Given the description of an element on the screen output the (x, y) to click on. 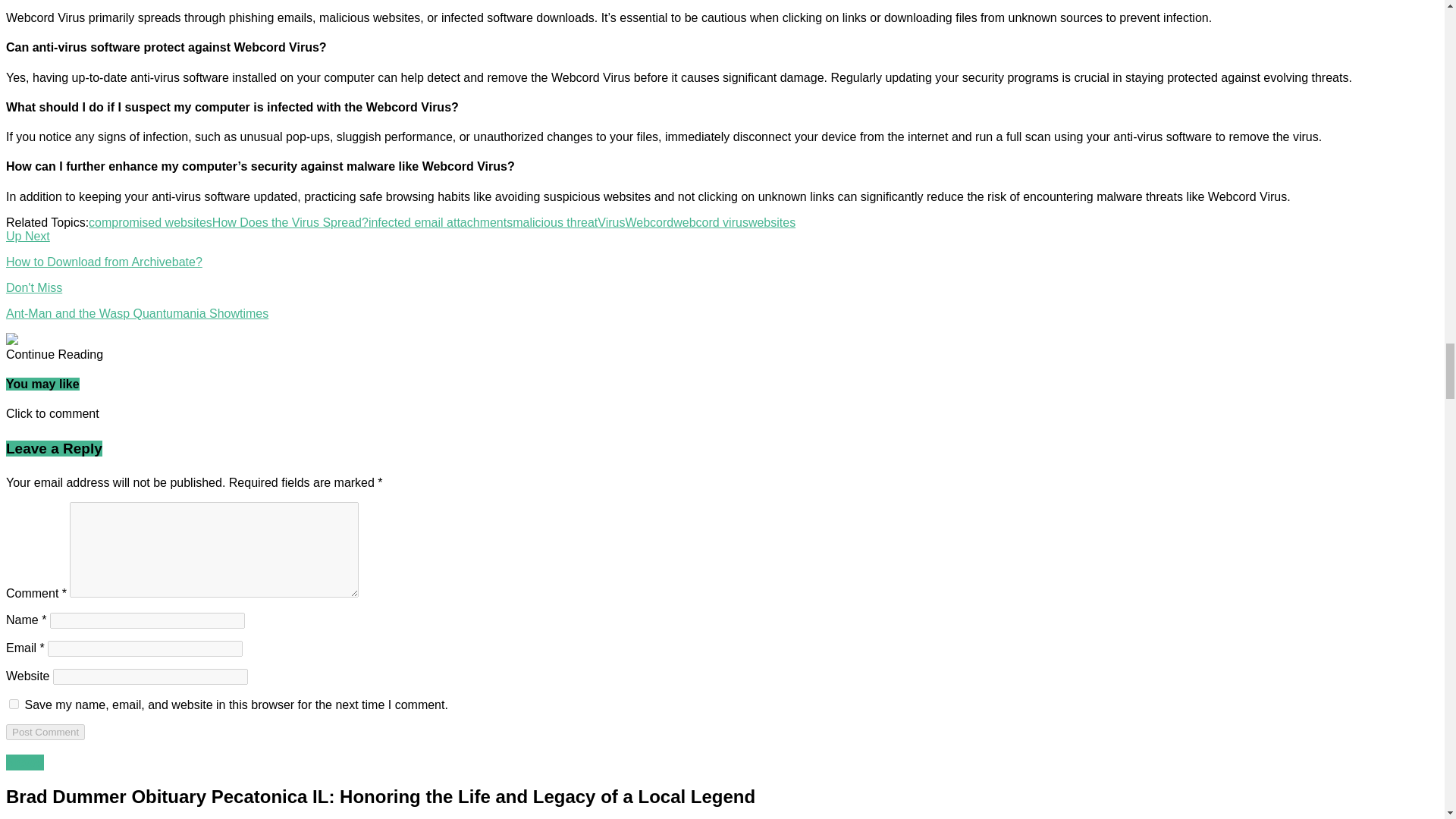
yes (13, 704)
Post Comment (44, 731)
